Given the description of an element on the screen output the (x, y) to click on. 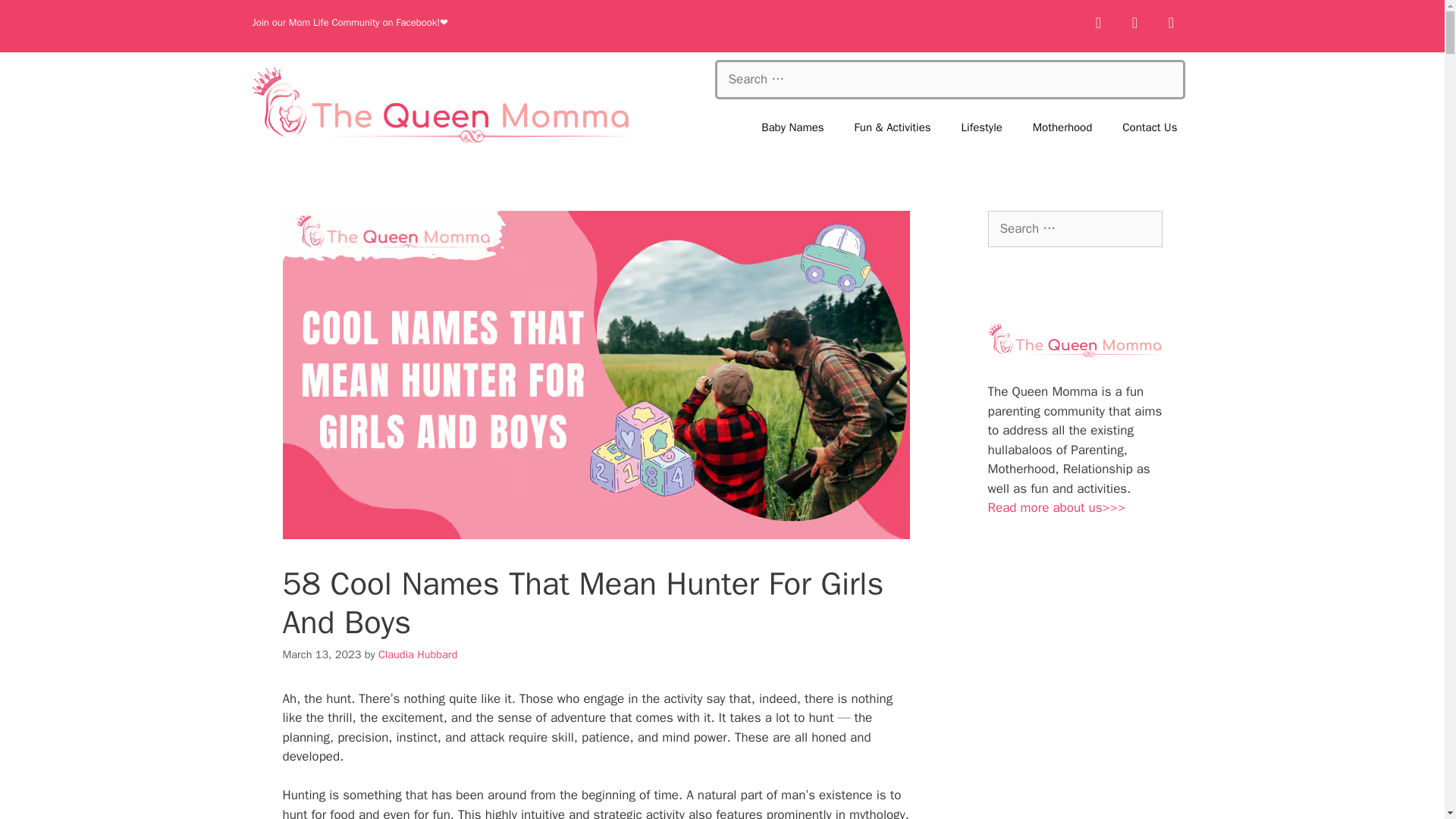
Motherhood (1061, 126)
View all posts by Claudia Hubbard (417, 653)
Search for: (1074, 228)
Lifestyle (981, 126)
Pinterest (1171, 22)
Baby Names (791, 126)
Search (35, 18)
Claudia Hubbard (417, 653)
Facebook (1098, 22)
Twitter (1134, 22)
Search for: (949, 79)
Contact Us (1149, 126)
